Given the description of an element on the screen output the (x, y) to click on. 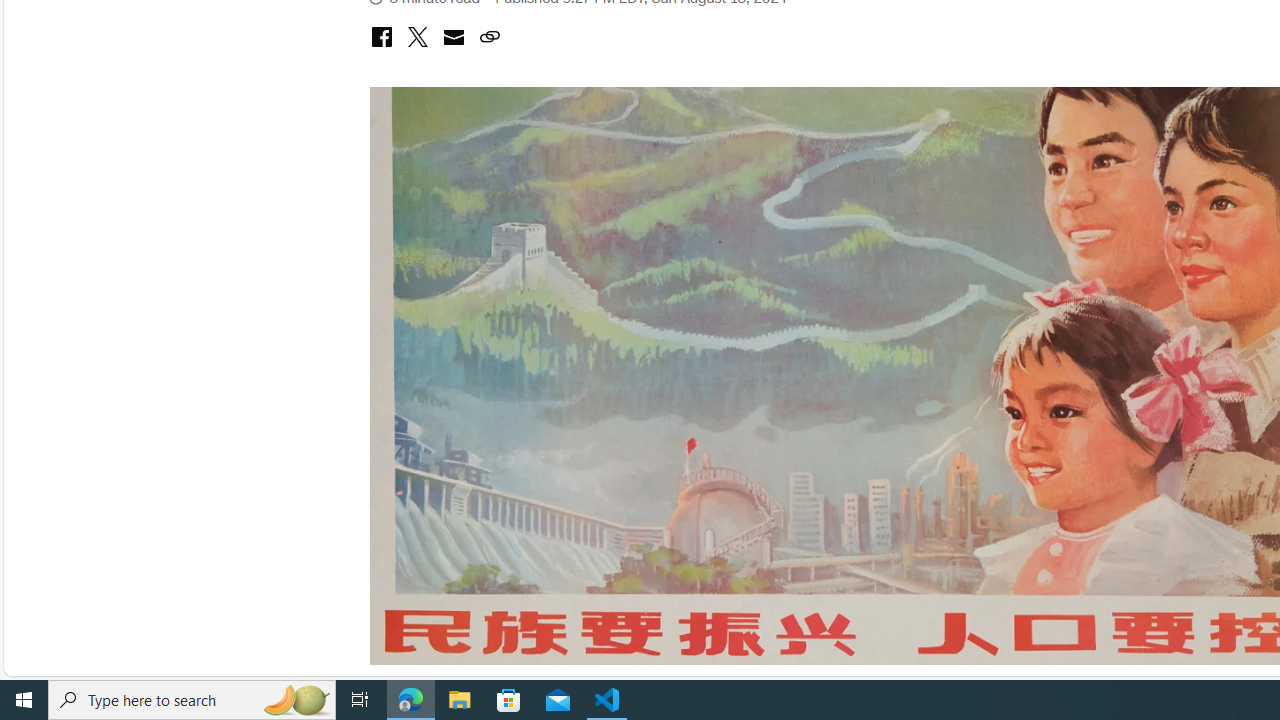
share with facebook (381, 38)
copy link to clipboard (489, 38)
Class: icon-social-twitter (417, 36)
share with email (453, 39)
share with x (417, 38)
Class: icon-social-facebook (381, 36)
Class: icon-social-email-fill (453, 36)
Class: icon-ui-link (489, 36)
